Given the description of an element on the screen output the (x, y) to click on. 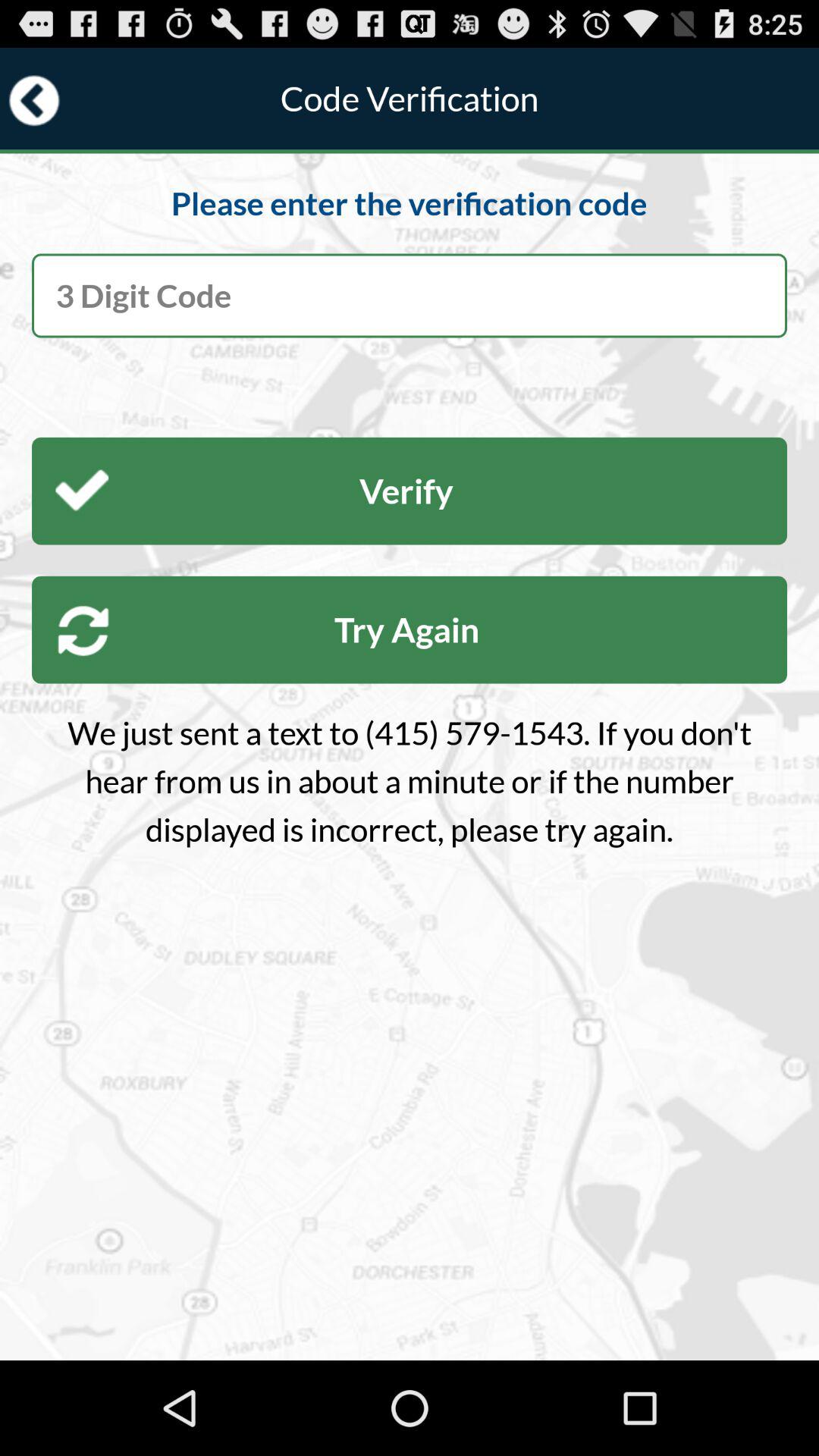
scroll until the verify icon (409, 490)
